Given the description of an element on the screen output the (x, y) to click on. 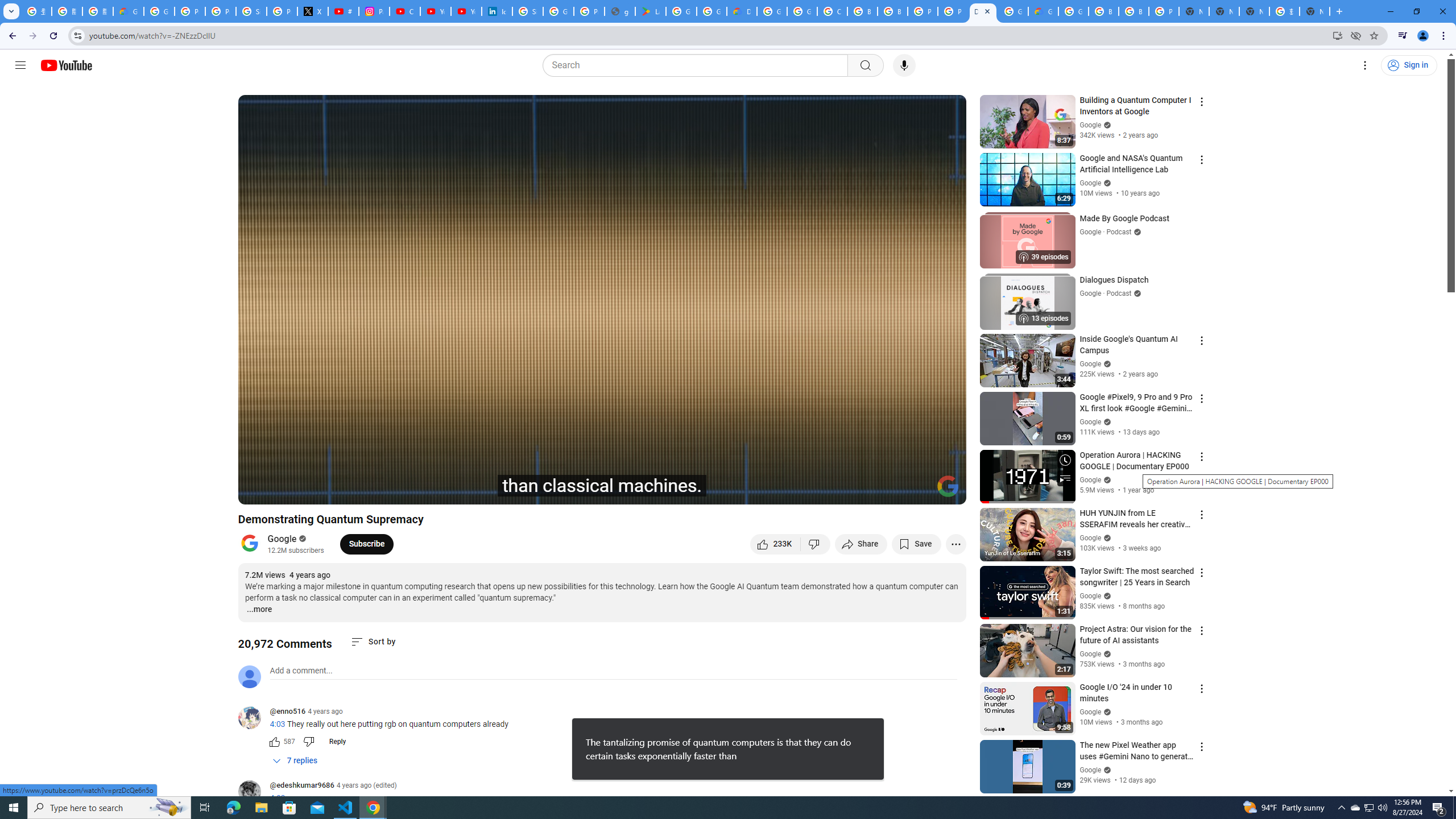
Privacy Help Center - Policies Help (220, 11)
@edeshkumar9686 (301, 785)
Autoplay is on (808, 490)
Like this comment along with 587 other people (273, 741)
7 replies (295, 761)
Google Workspace - Specific Terms (711, 11)
Browse Chrome as a guest - Computer - Google Chrome Help (1103, 11)
#nbabasketballhighlights - YouTube (343, 11)
